Given the description of an element on the screen output the (x, y) to click on. 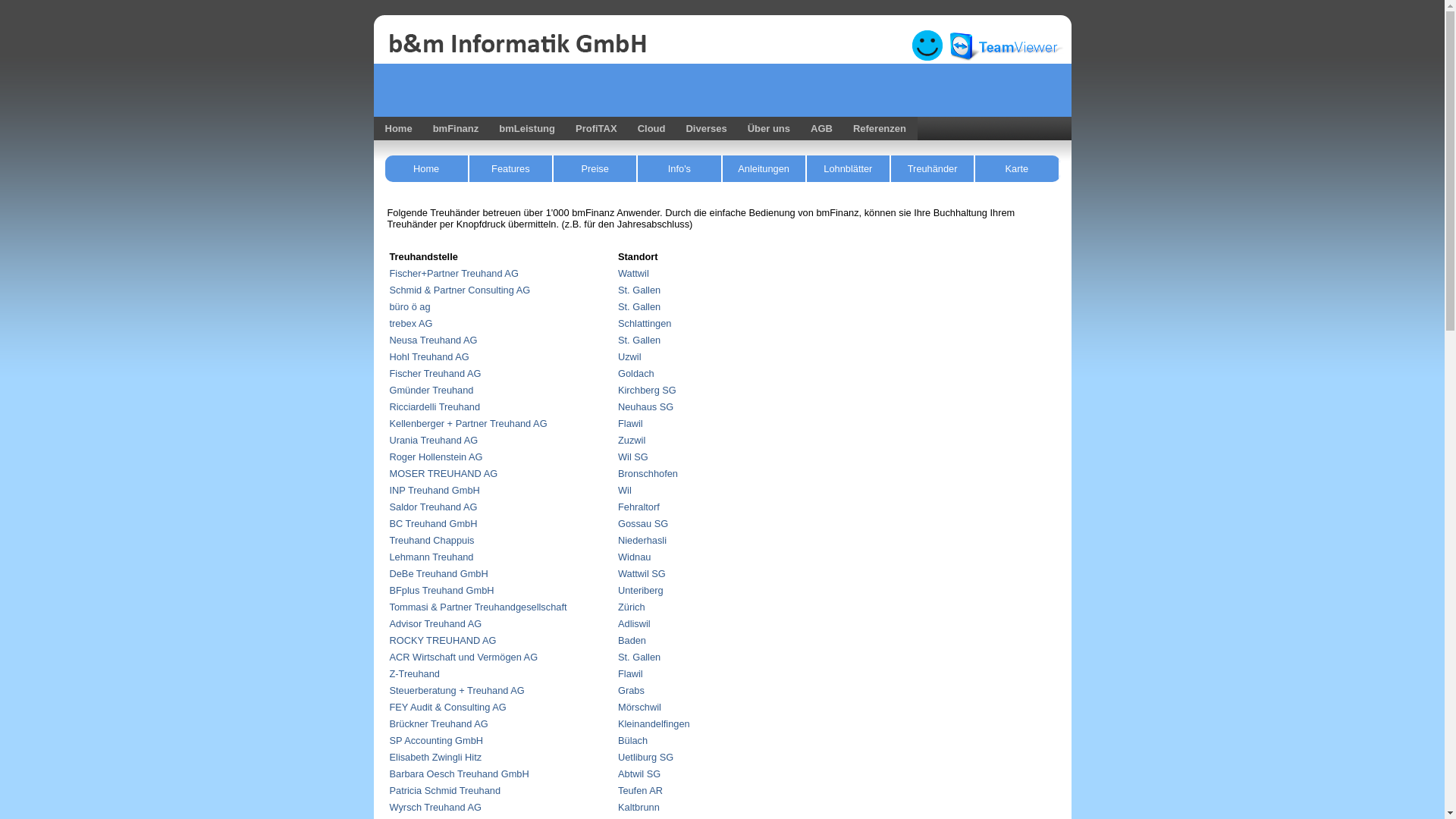
Steuerberatung + Treuhand AG Element type: text (456, 690)
Flawil Element type: text (630, 423)
Widnau Element type: text (634, 556)
ROCKY TREUHAND AG Element type: text (442, 640)
Bronschhofen Element type: text (647, 473)
bmLeistung Element type: text (526, 128)
Z-Treuhand Element type: text (414, 673)
Gossau SG Element type: text (643, 523)
Fehraltorf Element type: text (638, 506)
St. Gallen Element type: text (639, 339)
Advisor Treuhand AG Element type: text (435, 623)
Saldor Treuhand AG Element type: text (433, 506)
Goldach Element type: text (636, 373)
Referenzen Element type: text (877, 128)
Kleinandelfingen Element type: text (654, 723)
bmFinanz Element type: text (453, 128)
Unteriberg Element type: text (640, 590)
ProfiTAX Element type: text (596, 128)
AGB Element type: text (821, 128)
St. Gallen Element type: text (639, 656)
Wattwil SG Element type: text (641, 573)
Diverses Element type: text (703, 128)
bmFinanz Element type: text (455, 128)
Referenzen Element type: text (879, 128)
Tommasi & Partner Treuhandgesellschaft Element type: text (478, 606)
Home Element type: text (427, 168)
Karte Element type: text (1017, 168)
Zuzwil Element type: text (631, 439)
Adliswil Element type: text (634, 623)
Diverses Element type: text (705, 128)
Fischer+Partner Treuhand AG Element type: text (453, 273)
ProfiTAX Element type: text (594, 128)
Wyrsch Treuhand AG Element type: text (435, 806)
Hohl Treuhand AG Element type: text (429, 356)
Uetliburg SG Element type: text (645, 756)
Treuhand Chappuis Element type: text (431, 540)
Grabs Element type: text (631, 690)
Teufen AR Element type: text (640, 790)
MOSER TREUHAND AG Element type: text (443, 473)
Elisabeth Zwingli Hitz Element type: text (435, 756)
Cloud Element type: text (649, 128)
Ricciardelli Treuhand Element type: text (434, 406)
Schlattingen Element type: text (644, 323)
AGB Element type: text (819, 128)
Features Element type: text (511, 168)
FEY Audit & Consulting AG Element type: text (447, 706)
Niederhasli Element type: text (642, 540)
Uzwil Element type: text (629, 356)
Home Element type: text (398, 128)
Patricia Schmid Treuhand Element type: text (445, 790)
Wil Element type: text (624, 489)
Kirchberg SG Element type: text (647, 389)
INP Treuhand GmbH Element type: text (434, 489)
Kaltbrunn Element type: text (638, 806)
Lehmann Treuhand Element type: text (431, 556)
BFplus Treuhand GmbH Element type: text (441, 590)
Roger Hollenstein AG Element type: text (436, 456)
Wattwil Element type: text (633, 273)
Neusa Treuhand AG Element type: text (433, 339)
St. Gallen Element type: text (639, 306)
trebex AG Element type: text (411, 323)
SP Accounting GmbH Element type: text (436, 740)
Abtwil SG Element type: text (639, 773)
Wil SG Element type: text (633, 456)
Info's Element type: text (679, 168)
Home Element type: text (395, 128)
Neuhaus SG Element type: text (645, 406)
Fischer Treuhand AG Element type: text (435, 373)
bmLeistung Element type: text (524, 128)
Flawil Element type: text (630, 673)
Anleitungen Element type: text (763, 168)
DeBe Treuhand GmbH Element type: text (438, 573)
Urania Treuhand AG Element type: text (433, 439)
Schmid & Partner Consulting AG Element type: text (459, 289)
St. Gallen Element type: text (639, 289)
Baden Element type: text (632, 640)
Kellenberger + Partner Treuhand AG Element type: text (468, 423)
Preise Element type: text (595, 168)
BC Treuhand GmbH Element type: text (433, 523)
Barbara Oesch Treuhand GmbH Element type: text (459, 773)
Cloud Element type: text (651, 128)
